Given the description of an element on the screen output the (x, y) to click on. 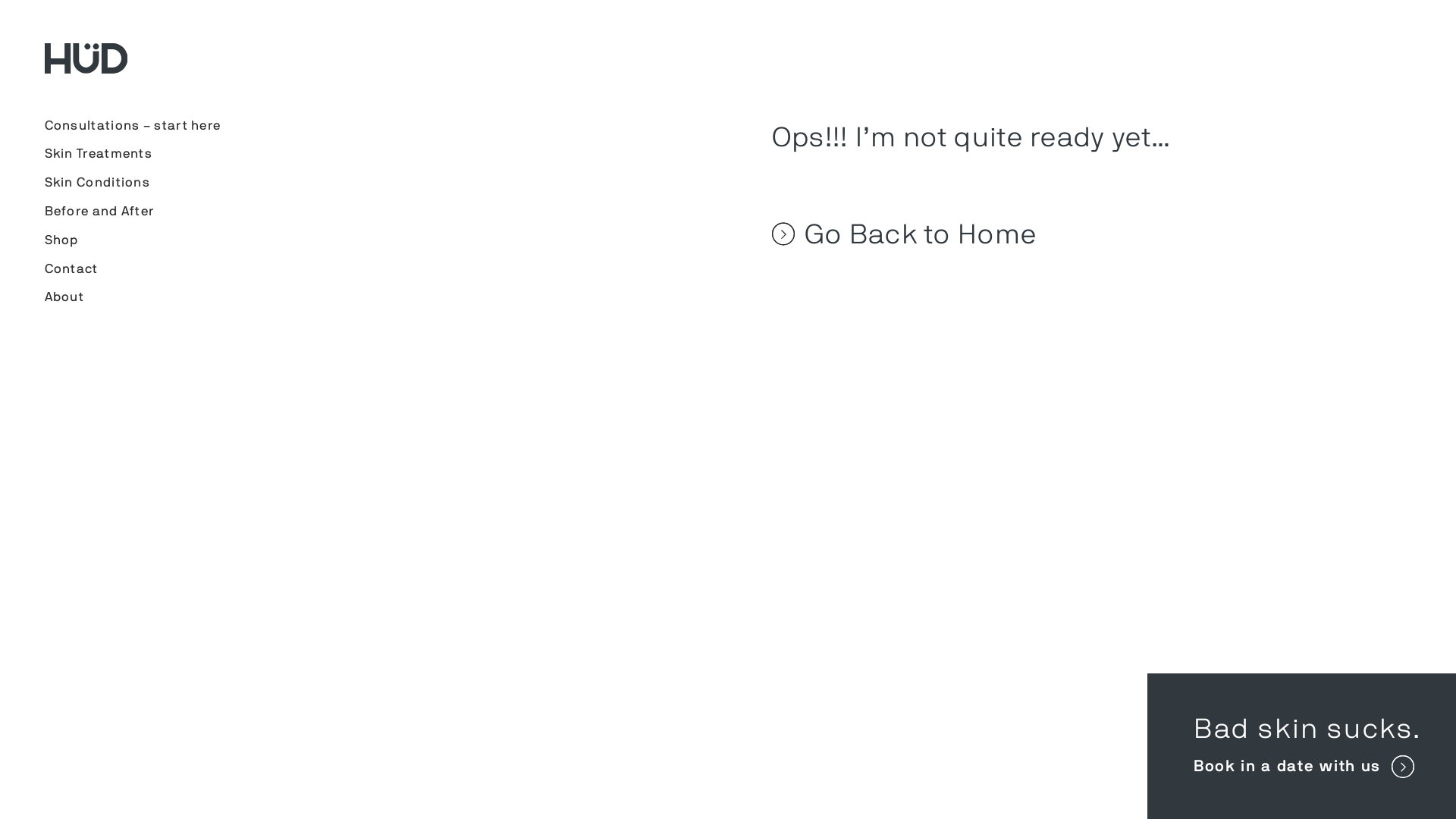
Contact Element type: text (70, 268)
About Element type: text (63, 296)
Go Back to Home Element type: text (1071, 233)
Skin Conditions Element type: text (96, 181)
Before and After Element type: text (98, 210)
Shop Element type: text (60, 239)
Skin Treatments Element type: text (97, 152)
